Given the description of an element on the screen output the (x, y) to click on. 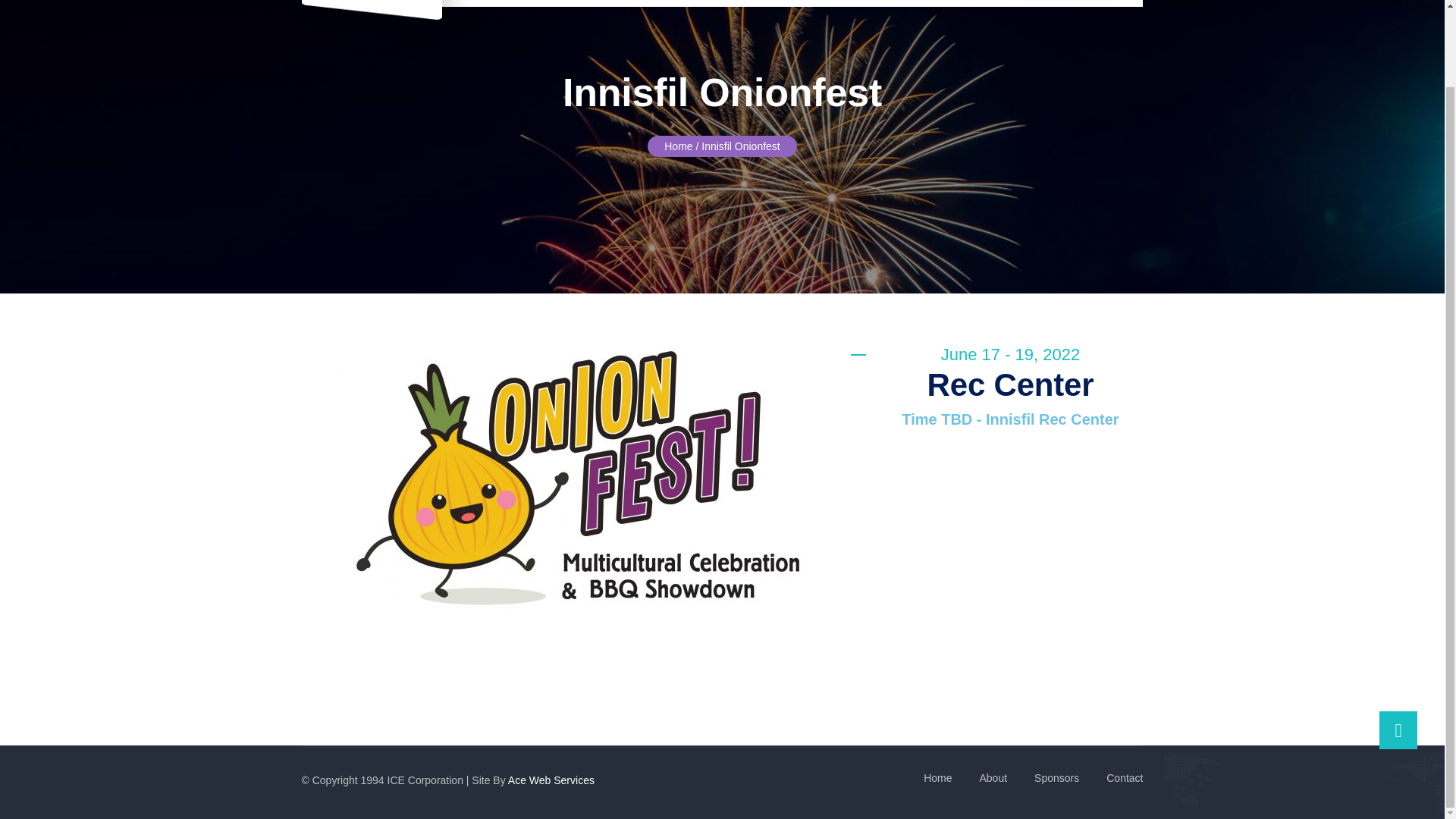
Home (937, 777)
OnionFest Logo (578, 478)
Sponsors (1055, 777)
OUR EVENTS (631, 1)
HOME (493, 1)
About (993, 777)
Home (678, 146)
GALLERY (718, 1)
Contact (1124, 777)
SPONSORS (796, 1)
CONTACT (879, 1)
ABOUT (550, 1)
innisfil rec center, innisfil, ontario (1010, 566)
Ace Web Services (551, 779)
